Given the description of an element on the screen output the (x, y) to click on. 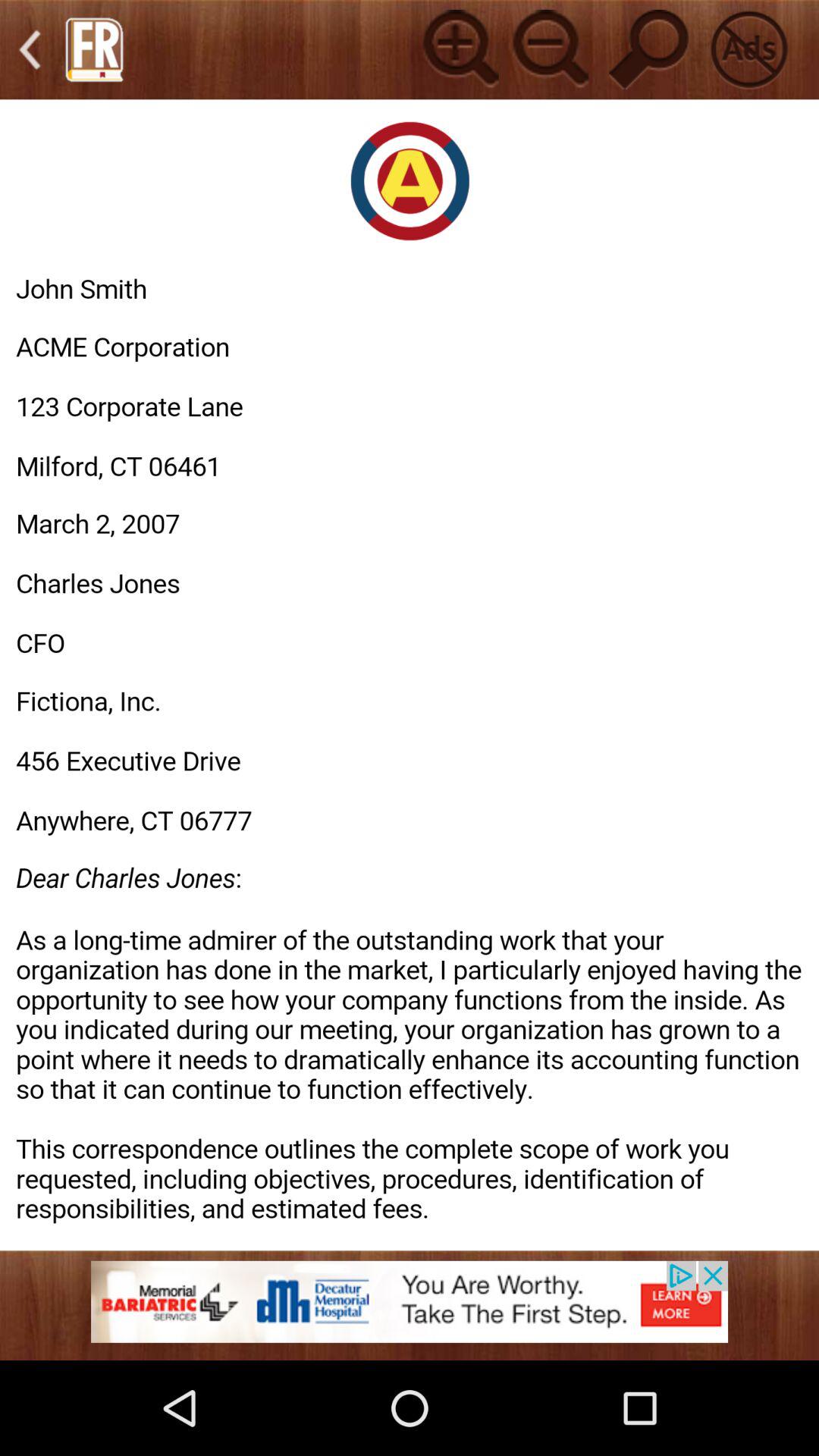
zoom option (458, 49)
